Given the description of an element on the screen output the (x, y) to click on. 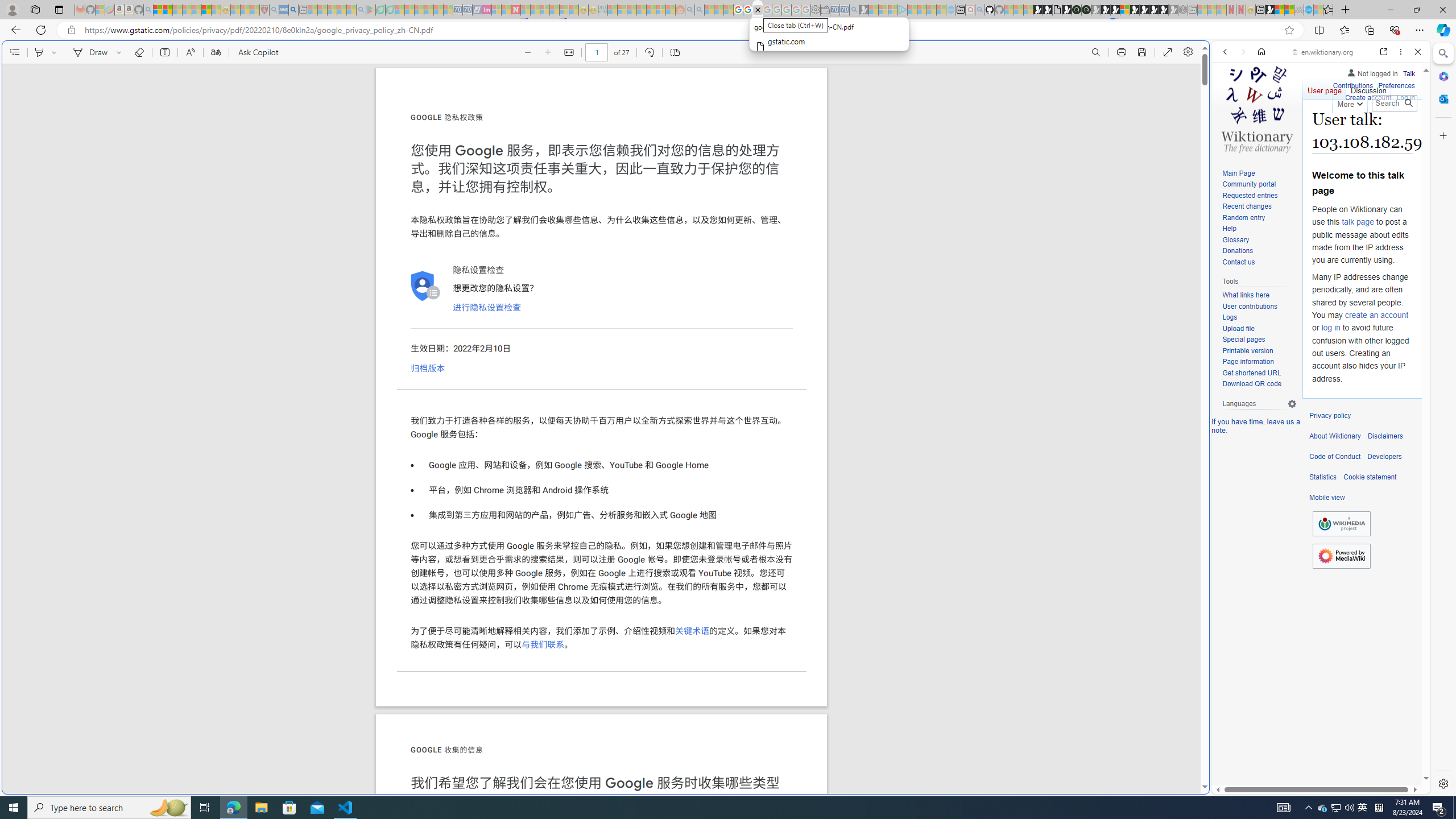
World - MSN (727, 389)
Statistics (1322, 477)
Go (1408, 102)
Pets - MSN - Sleeping (340, 9)
Logs (1229, 317)
Ask Copilot (257, 52)
Microsoft 365 (1442, 76)
Community portal (1248, 184)
Open link in new tab (1383, 51)
